Given the description of an element on the screen output the (x, y) to click on. 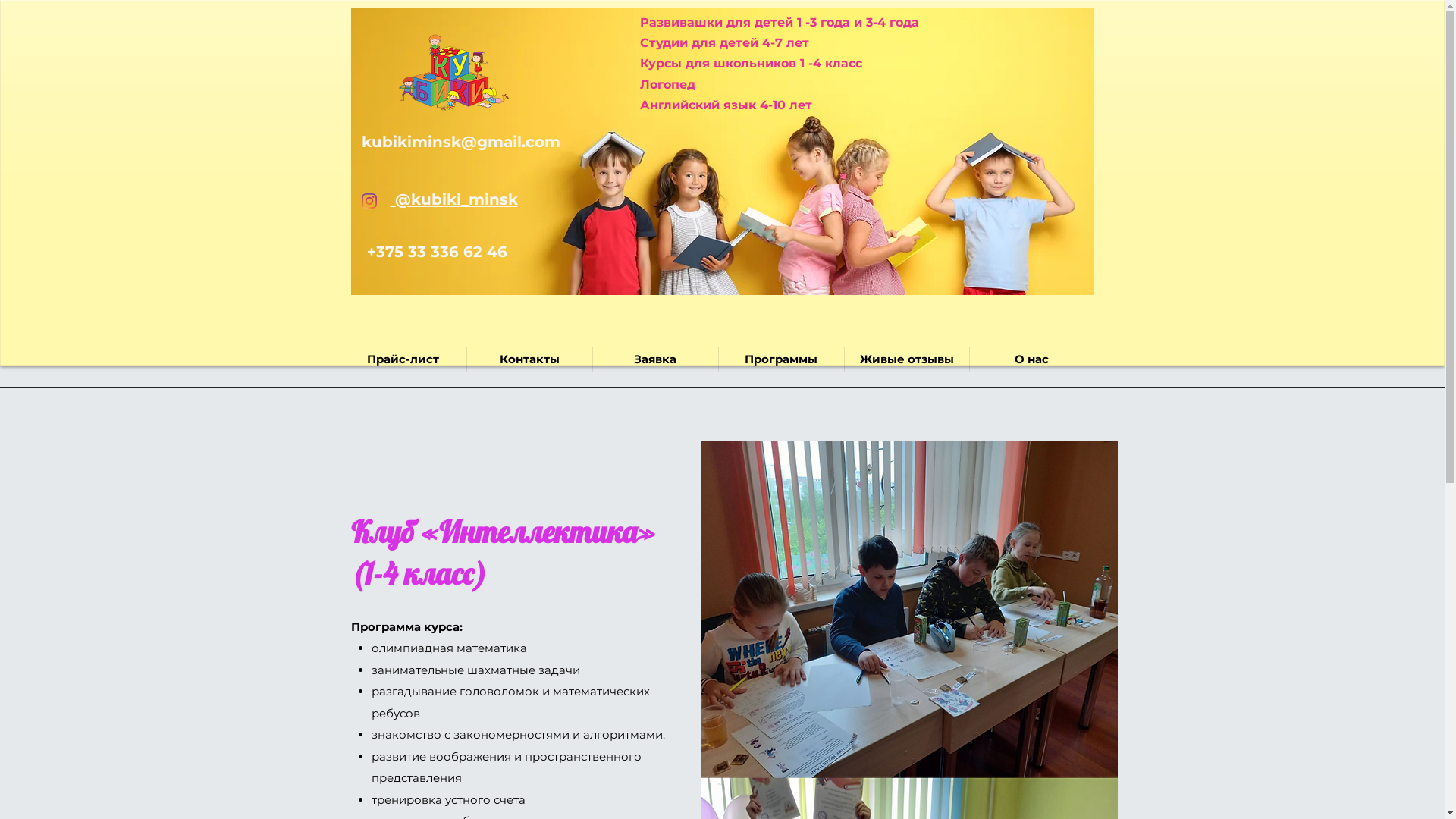
kubikiminsk@gmail.com Element type: text (459, 141)
 @kubiki_minsk Element type: text (453, 199)
